Given the description of an element on the screen output the (x, y) to click on. 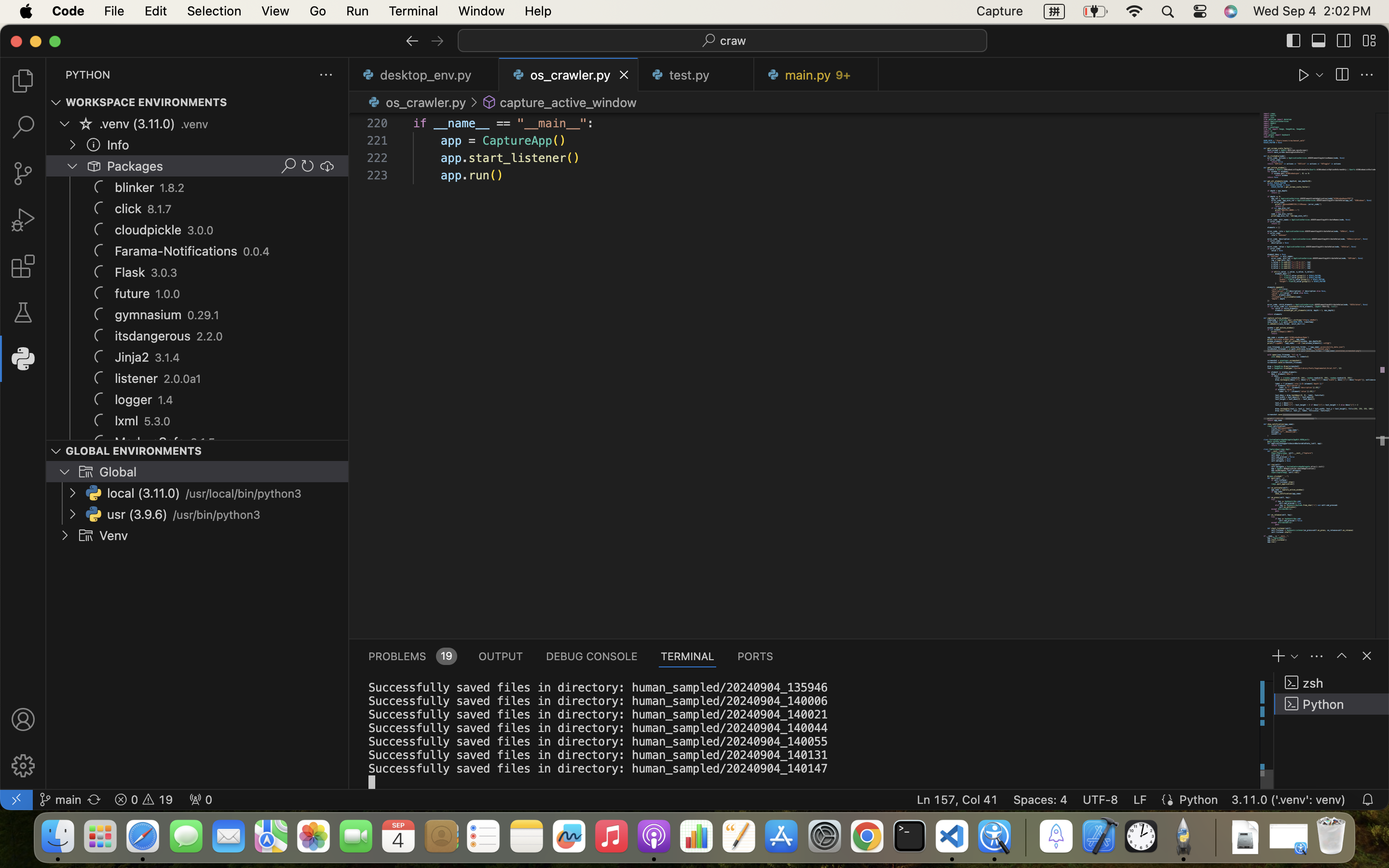
0 DEBUG CONSOLE Element type: AXRadioButton (591, 655)
0 PORTS Element type: AXRadioButton (755, 655)
0.4285714328289032 Element type: AXDockItem (1024, 836)
 Element type: AXStaticText (22, 719)
 Element type: AXStaticText (1366, 74)
